Given the description of an element on the screen output the (x, y) to click on. 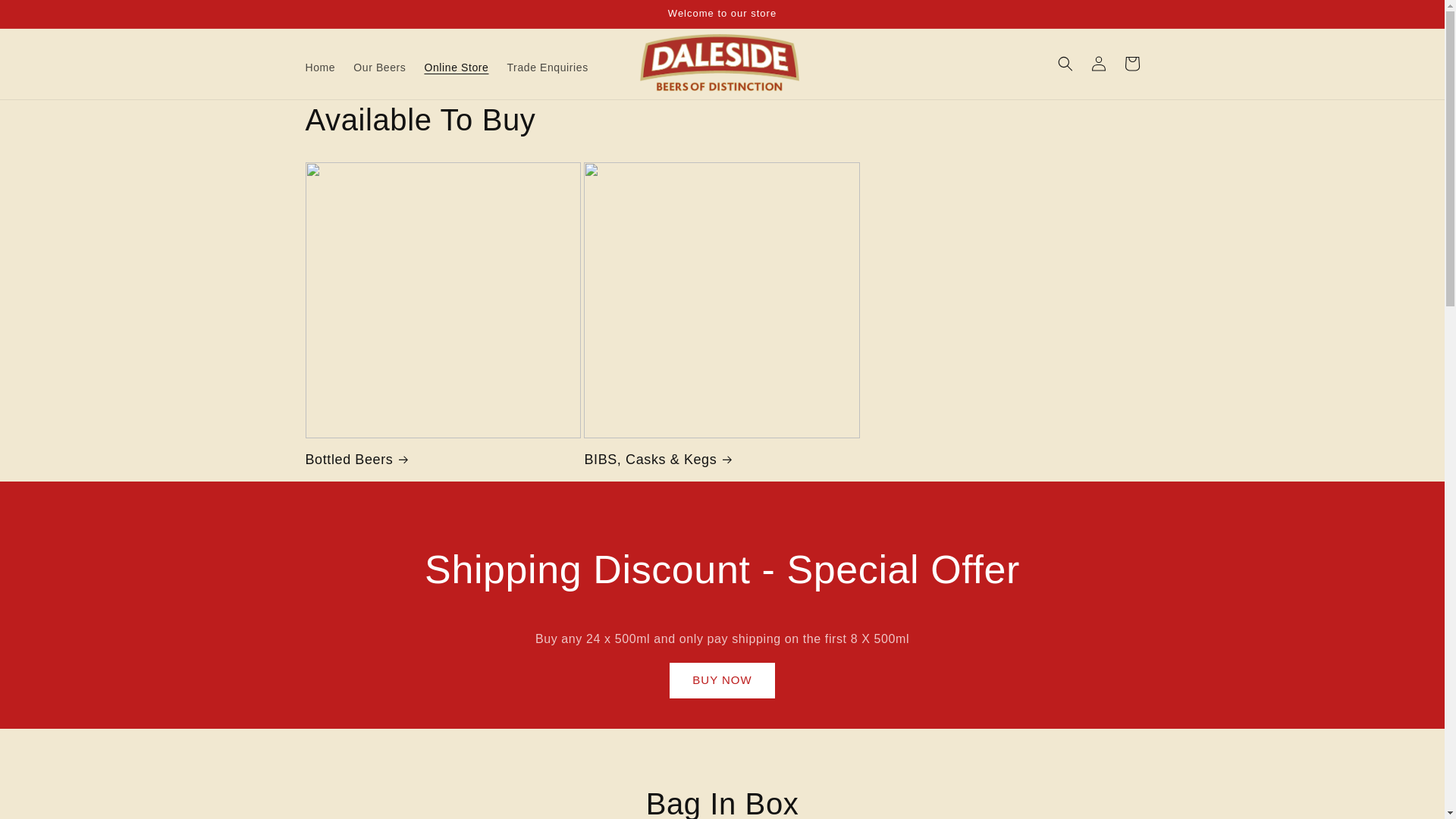
Skip to content (45, 17)
Our Beers (378, 67)
Log in (1098, 63)
Trade Enquiries (546, 67)
Bottled Beers (442, 459)
Cart (1131, 63)
Home (319, 67)
BUY NOW (721, 680)
Online Store (455, 67)
